Given the description of an element on the screen output the (x, y) to click on. 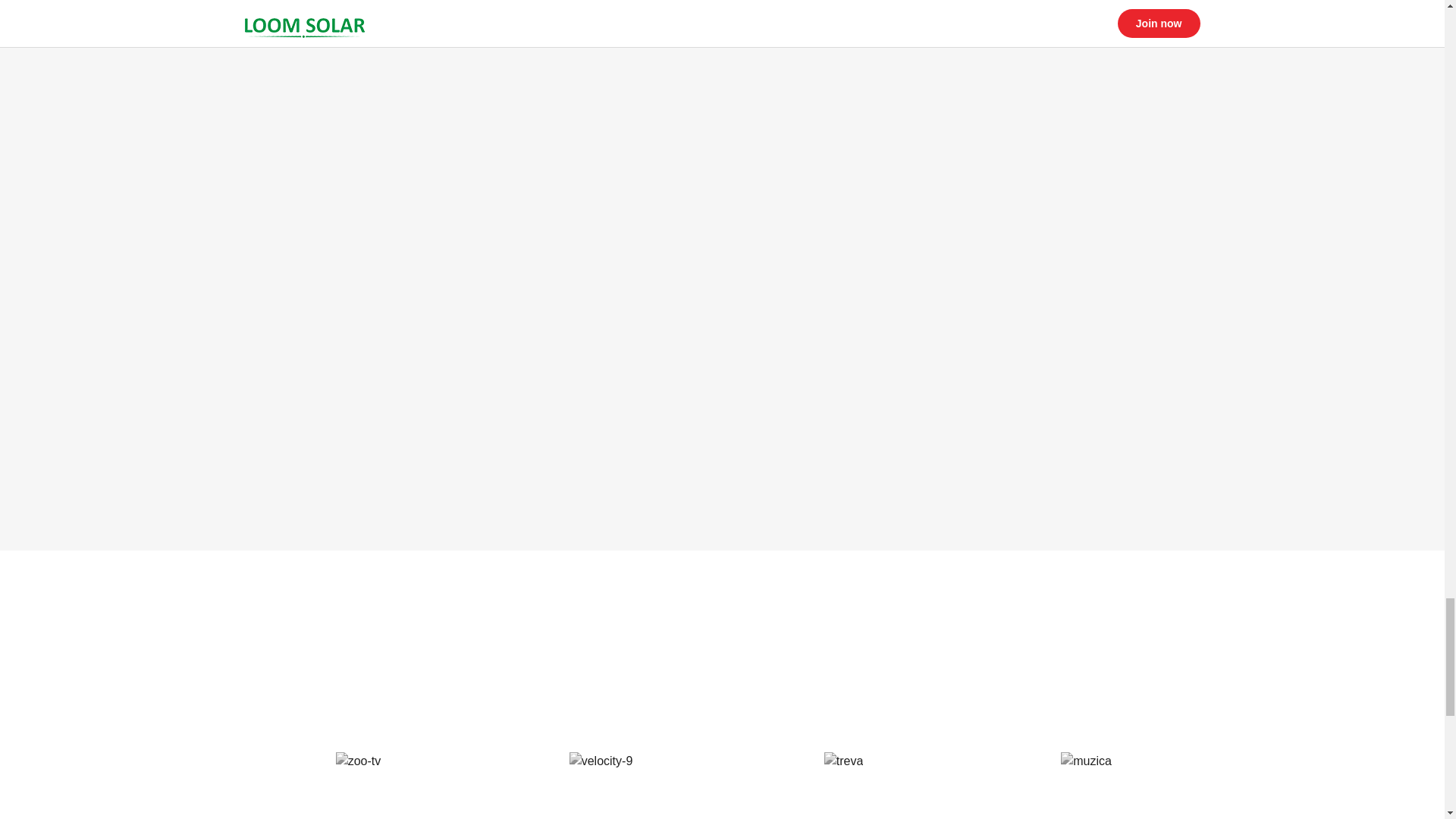
zoo-tv (358, 761)
treva (843, 761)
muzica (1086, 761)
velocity-9 (601, 761)
